Given the description of an element on the screen output the (x, y) to click on. 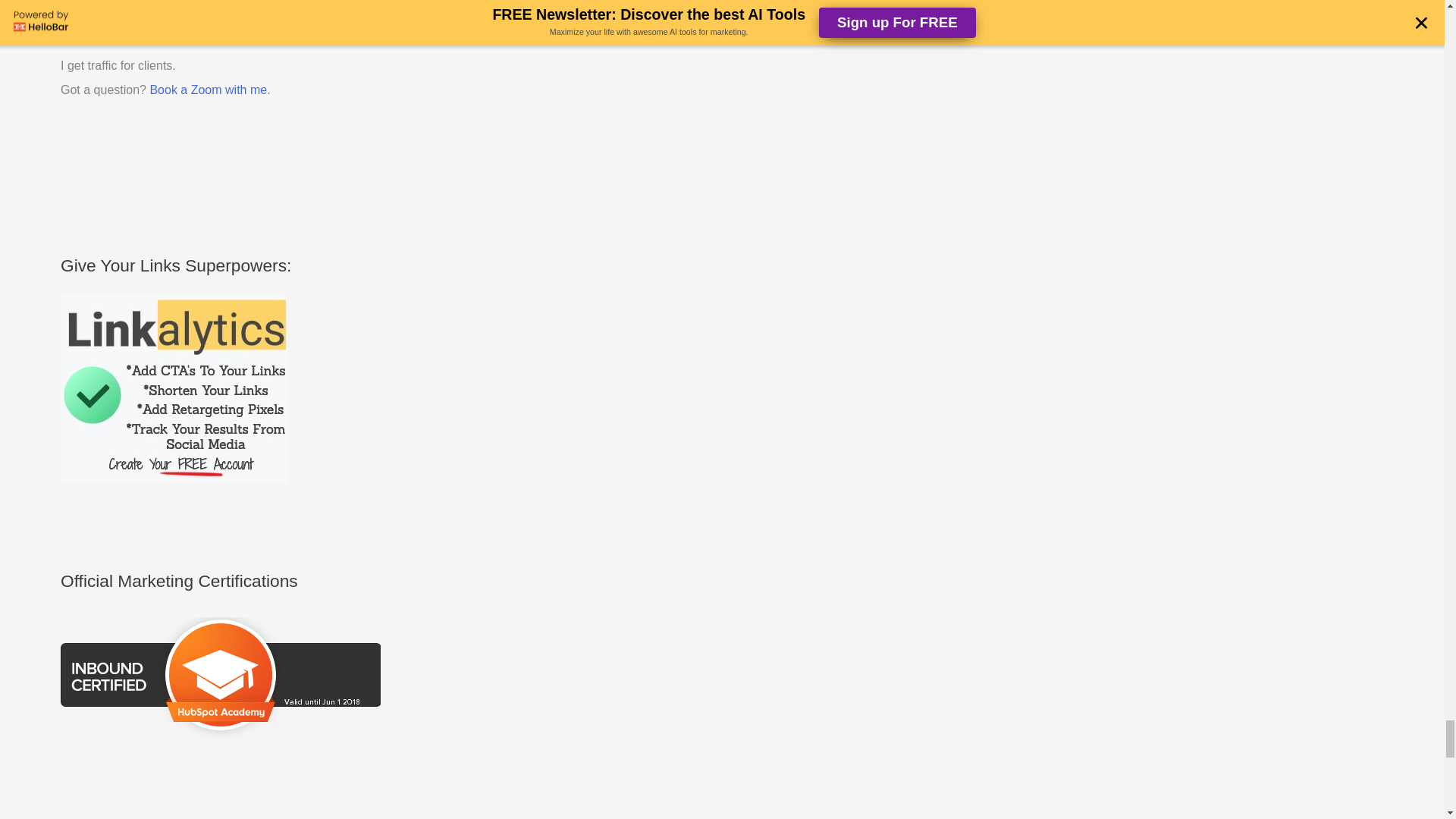
HubSpot Inbound Certification (220, 673)
